Given the description of an element on the screen output the (x, y) to click on. 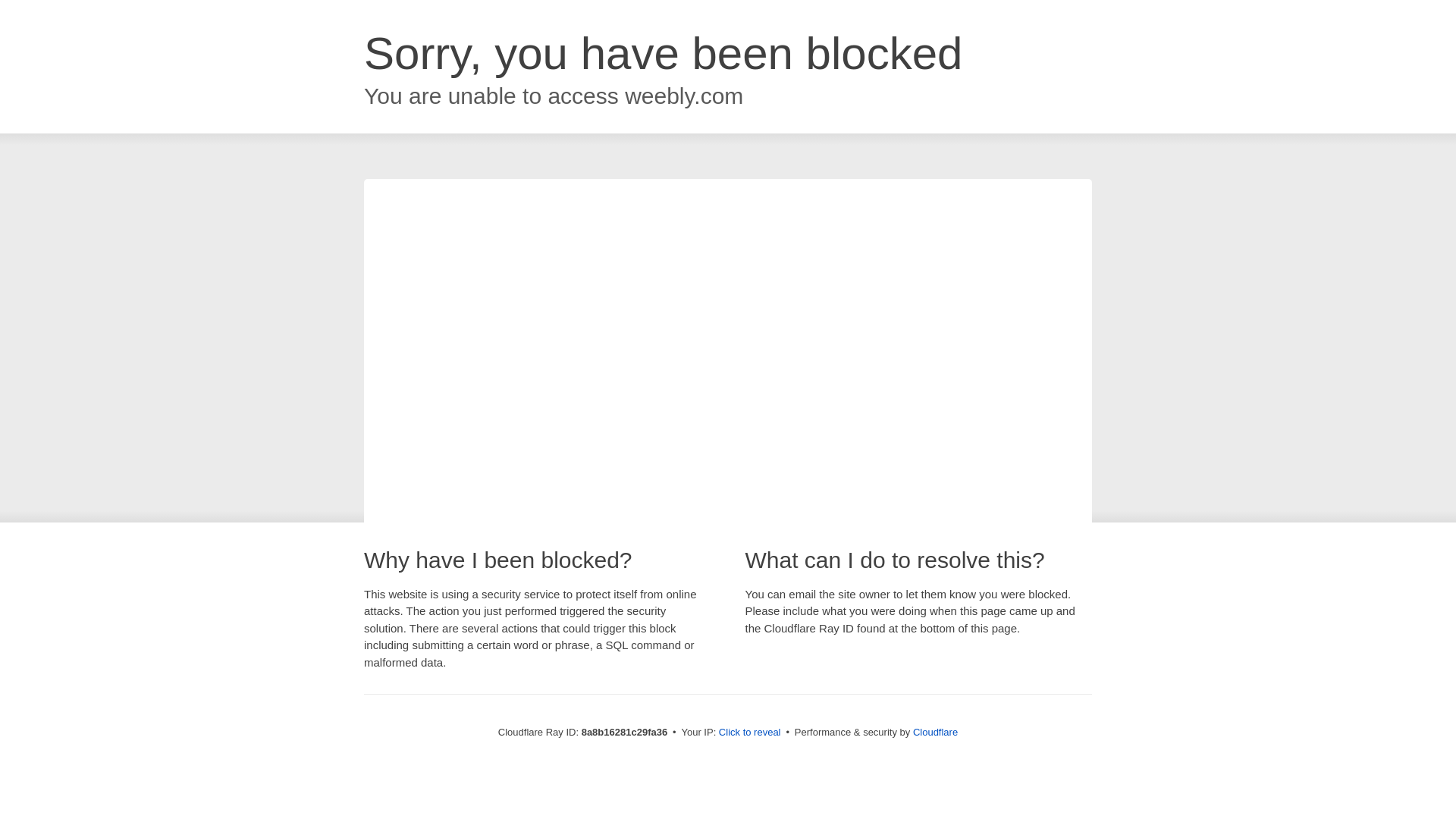
Click to reveal (749, 732)
Cloudflare (935, 731)
